Given the description of an element on the screen output the (x, y) to click on. 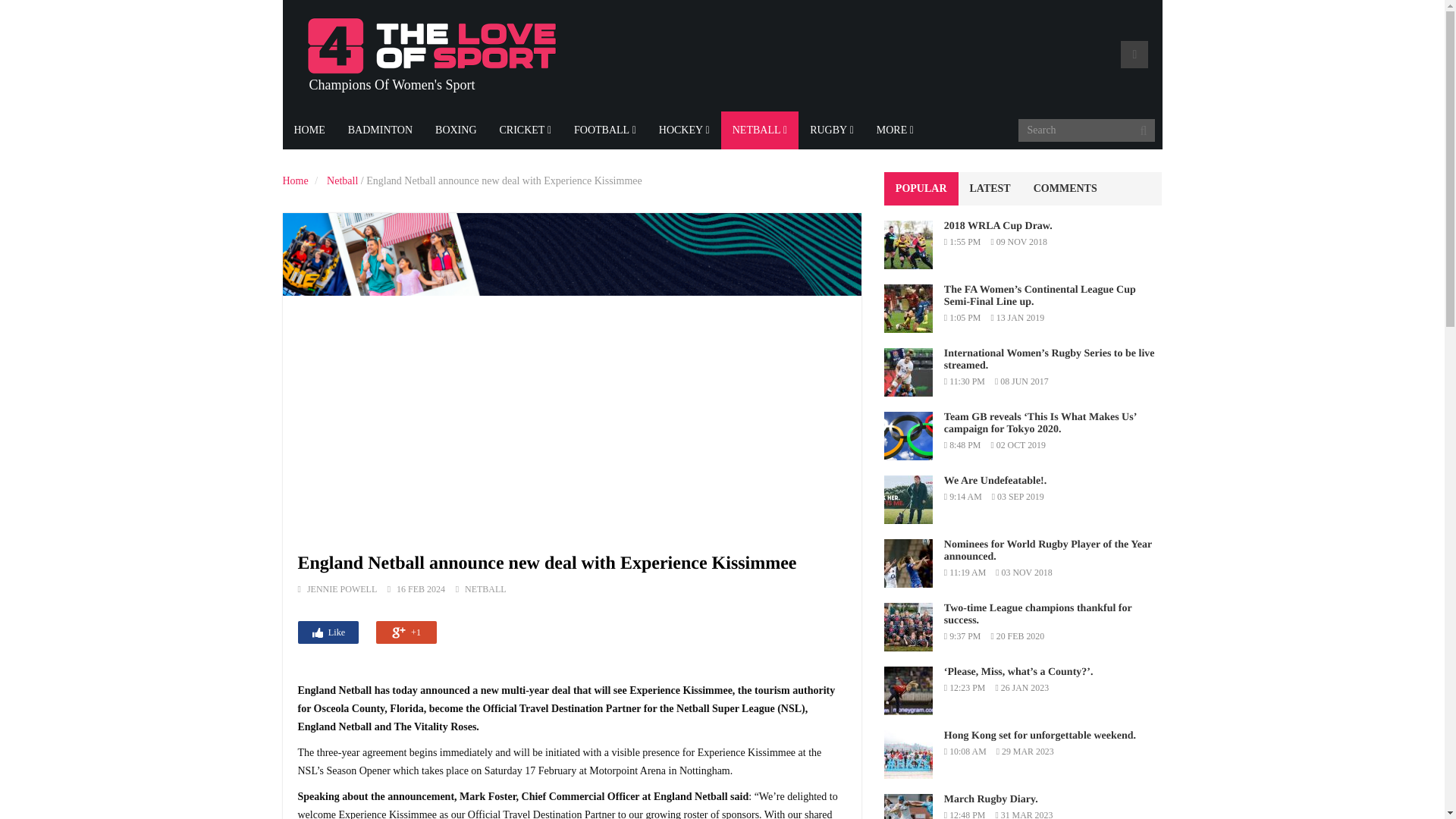
FOOTBALL (604, 130)
CRICKET (525, 130)
Share on Google Plus (405, 631)
BOXING (455, 130)
MORE (894, 130)
NETBALL (758, 130)
NETBALL (485, 588)
JENNIE POWELL (342, 588)
Netball (342, 180)
Share on Twitter (367, 630)
HOCKEY (683, 130)
HOME (309, 130)
RUGBY (830, 130)
Posts by Jennie Powell (342, 588)
Share on Facebook (327, 631)
